Given the description of an element on the screen output the (x, y) to click on. 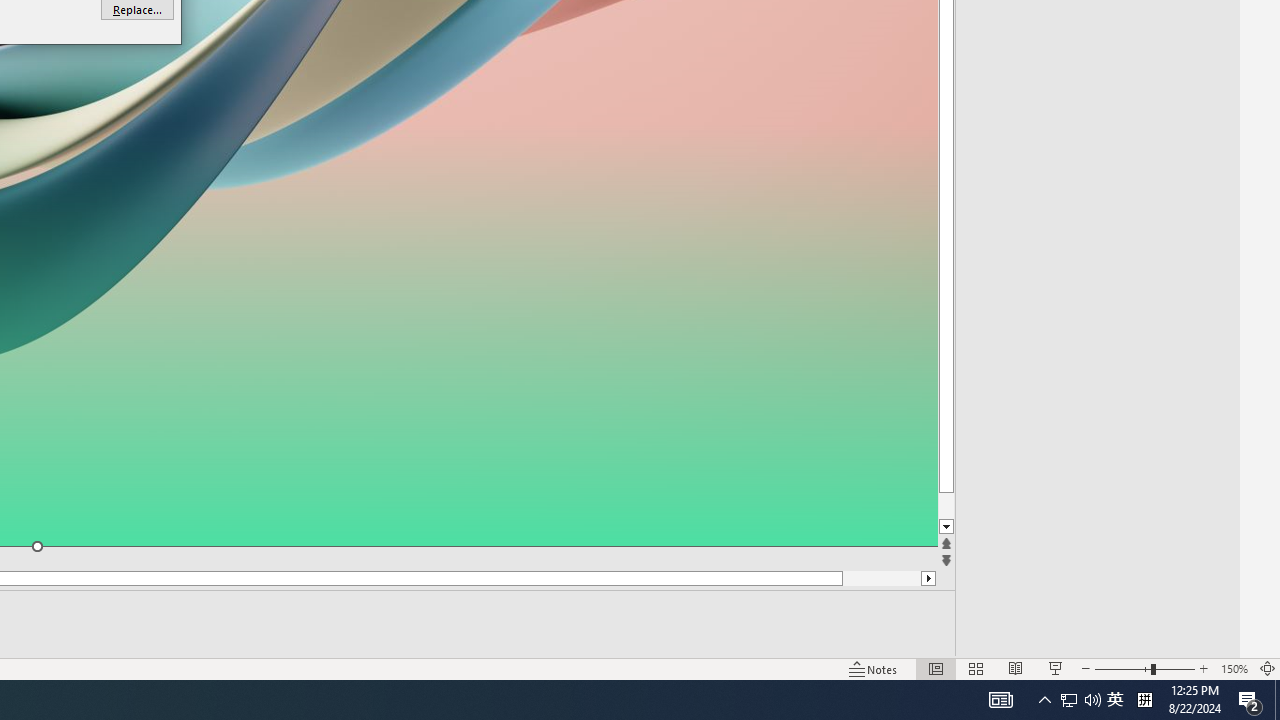
Q2790: 100% (1092, 699)
AutomationID: 4105 (1000, 699)
Zoom 150% (1234, 668)
Reading View (1015, 668)
Tray Input Indicator - Chinese (Simplified, China) (1144, 699)
Zoom to Fit  (1069, 699)
Notification Chevron (1267, 668)
Notes  (1044, 699)
Zoom In (874, 668)
Zoom Out (1204, 668)
Normal (1122, 668)
Show desktop (936, 668)
